Given the description of an element on the screen output the (x, y) to click on. 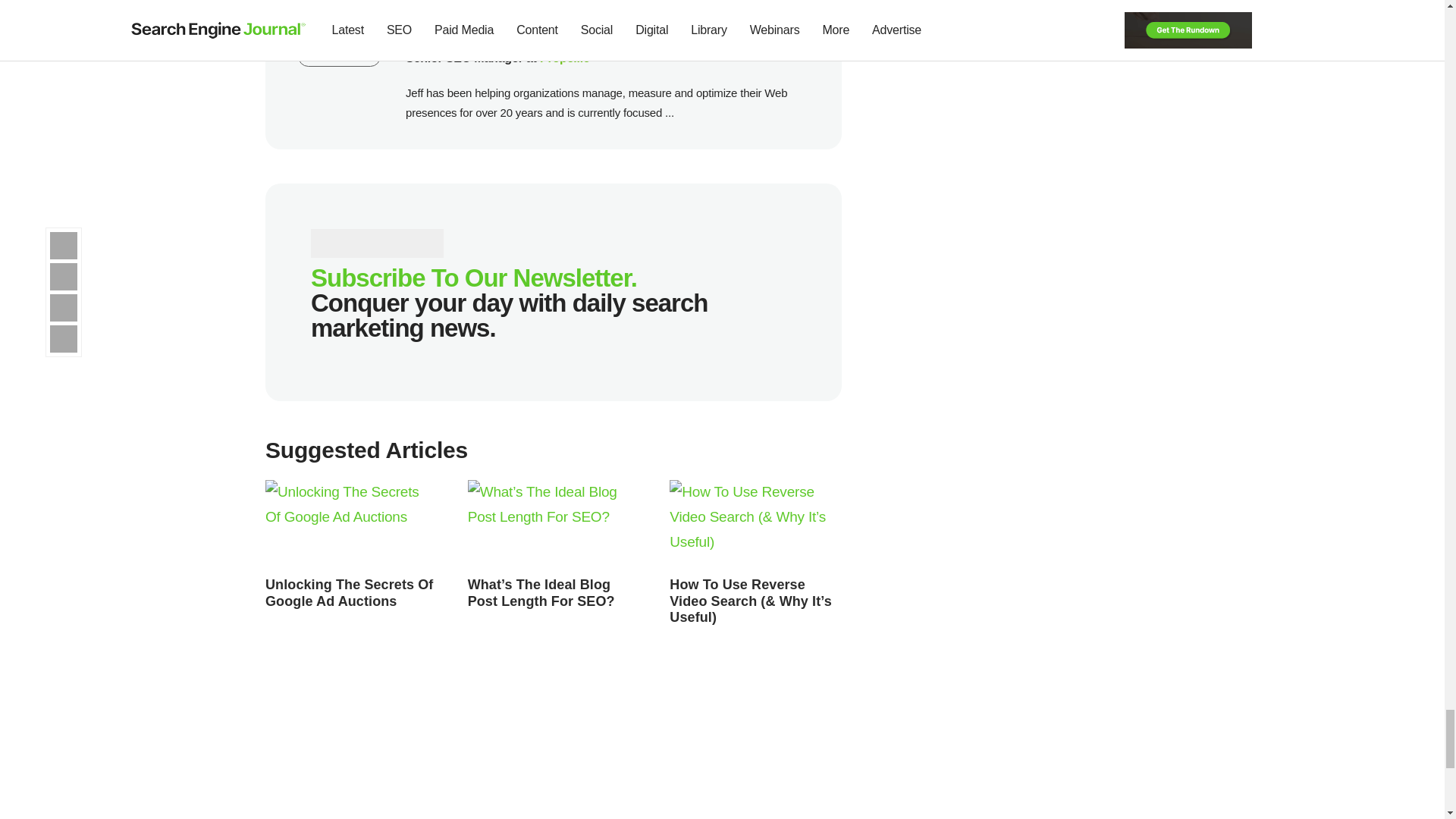
Read the Article (553, 524)
Read the Article (540, 593)
Read the Article (750, 600)
Read the Article (348, 593)
Read the Article (351, 524)
Read the Article (755, 524)
